Given the description of an element on the screen output the (x, y) to click on. 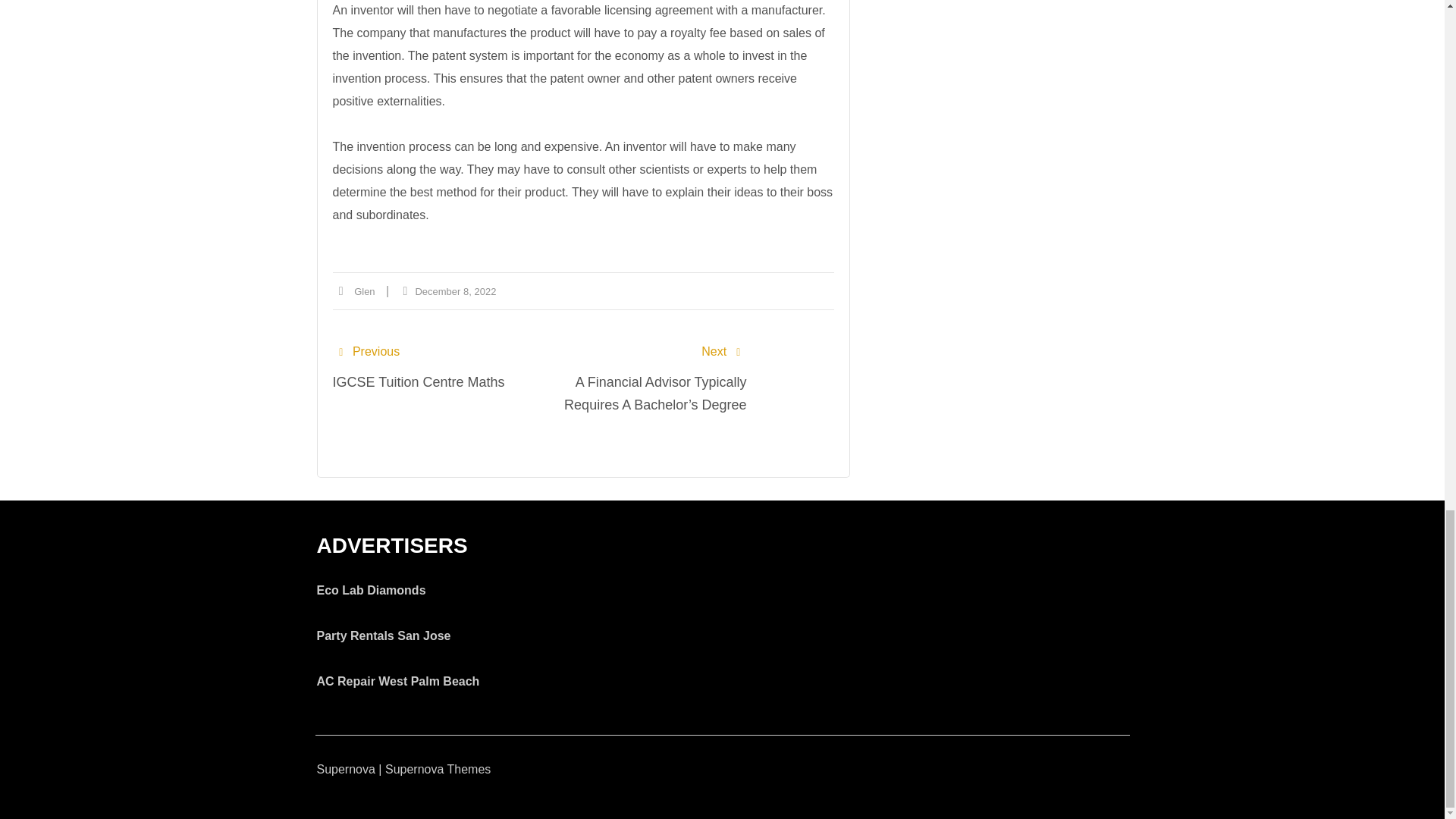
Next (723, 351)
IGCSE Tuition Centre Maths (417, 381)
December 8, 2022 (455, 291)
Previous (364, 351)
